Given the description of an element on the screen output the (x, y) to click on. 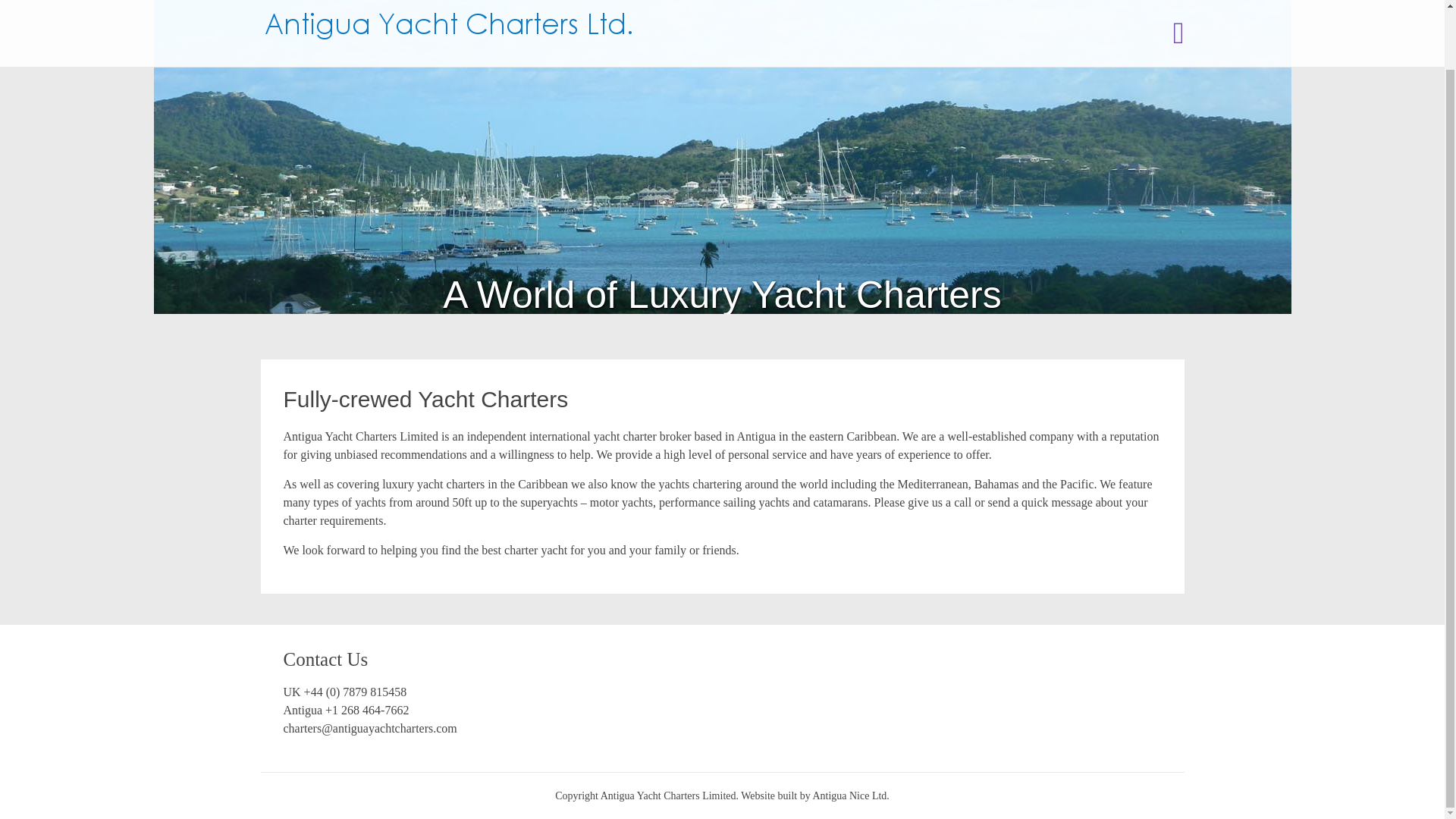
Fully-crewed Yacht Charters (426, 398)
